Given the description of an element on the screen output the (x, y) to click on. 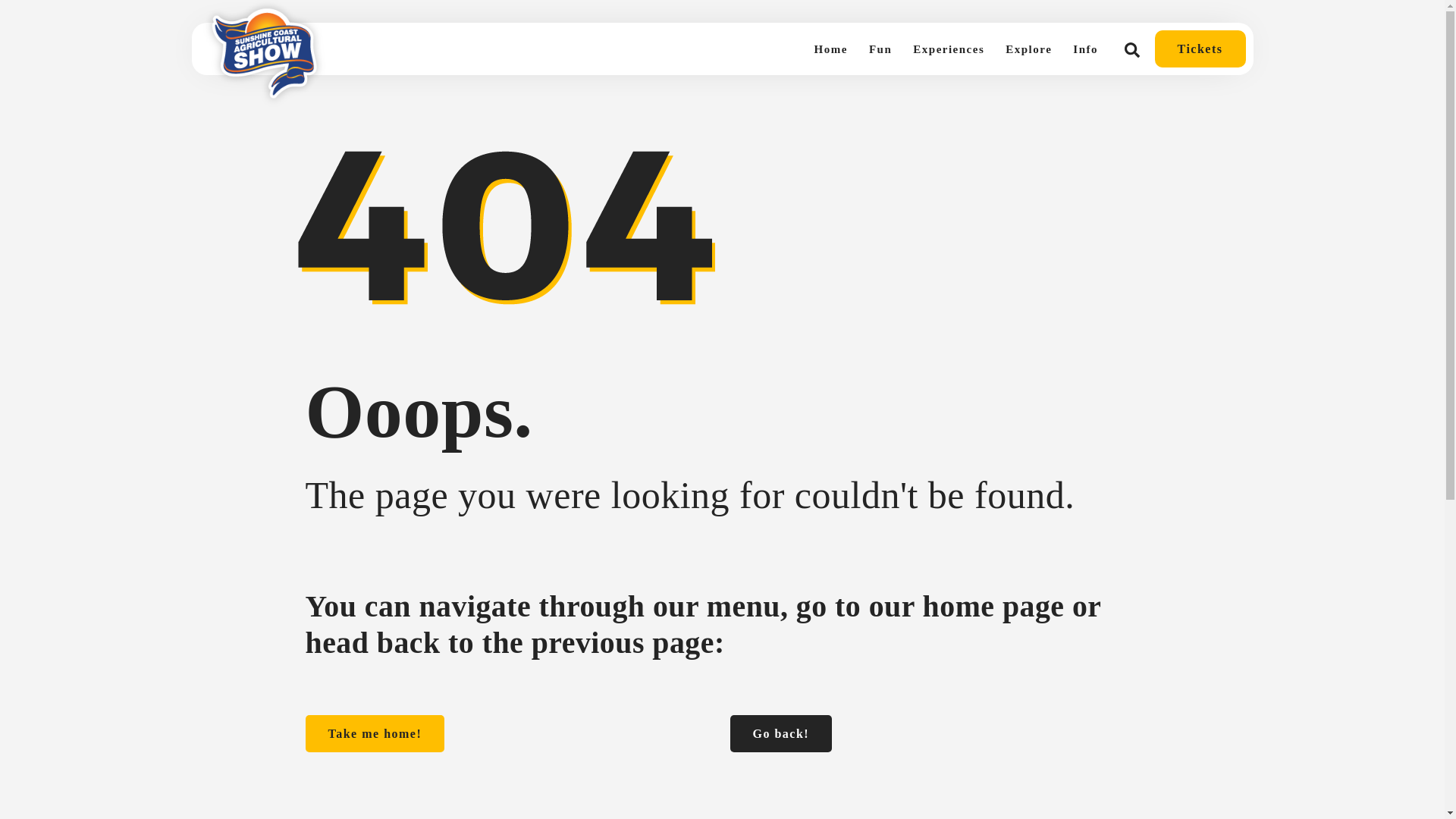
Tickets (1200, 48)
Fun (880, 48)
Info (1085, 48)
Home (831, 48)
Explore (1028, 48)
Experiences (948, 48)
